Given the description of an element on the screen output the (x, y) to click on. 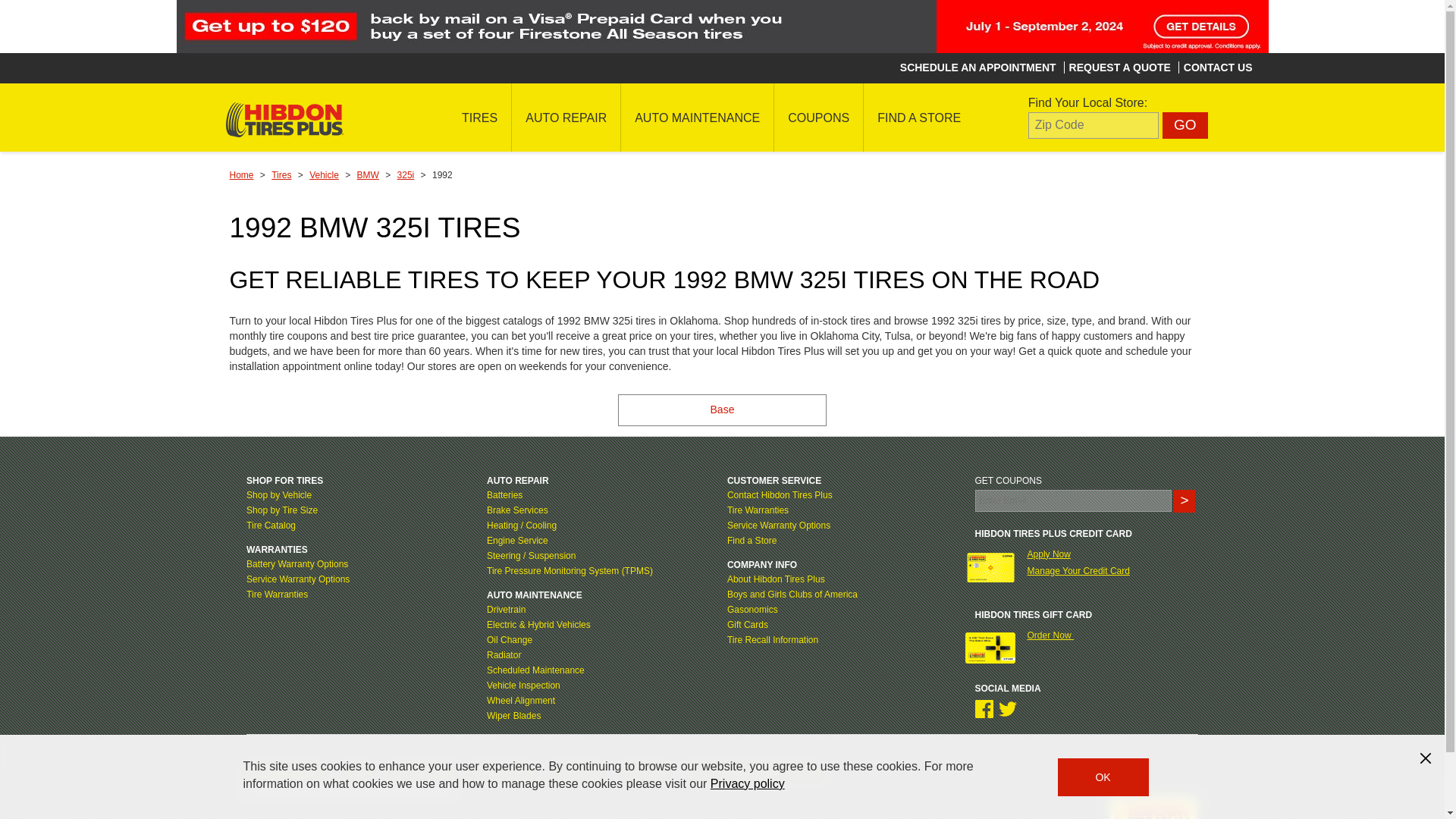
SCHEDULE AN APPOINTMENT (978, 67)
close button (1425, 758)
REQUEST A QUOTE (1119, 67)
TIRES (479, 117)
Facebook (983, 709)
Enter Email (1073, 500)
AUTO REPAIR (566, 117)
Twitter (1007, 709)
Zip Code (1092, 125)
CONTACT US (1217, 67)
Privacy policy (747, 783)
agree button (1102, 777)
